Given the description of an element on the screen output the (x, y) to click on. 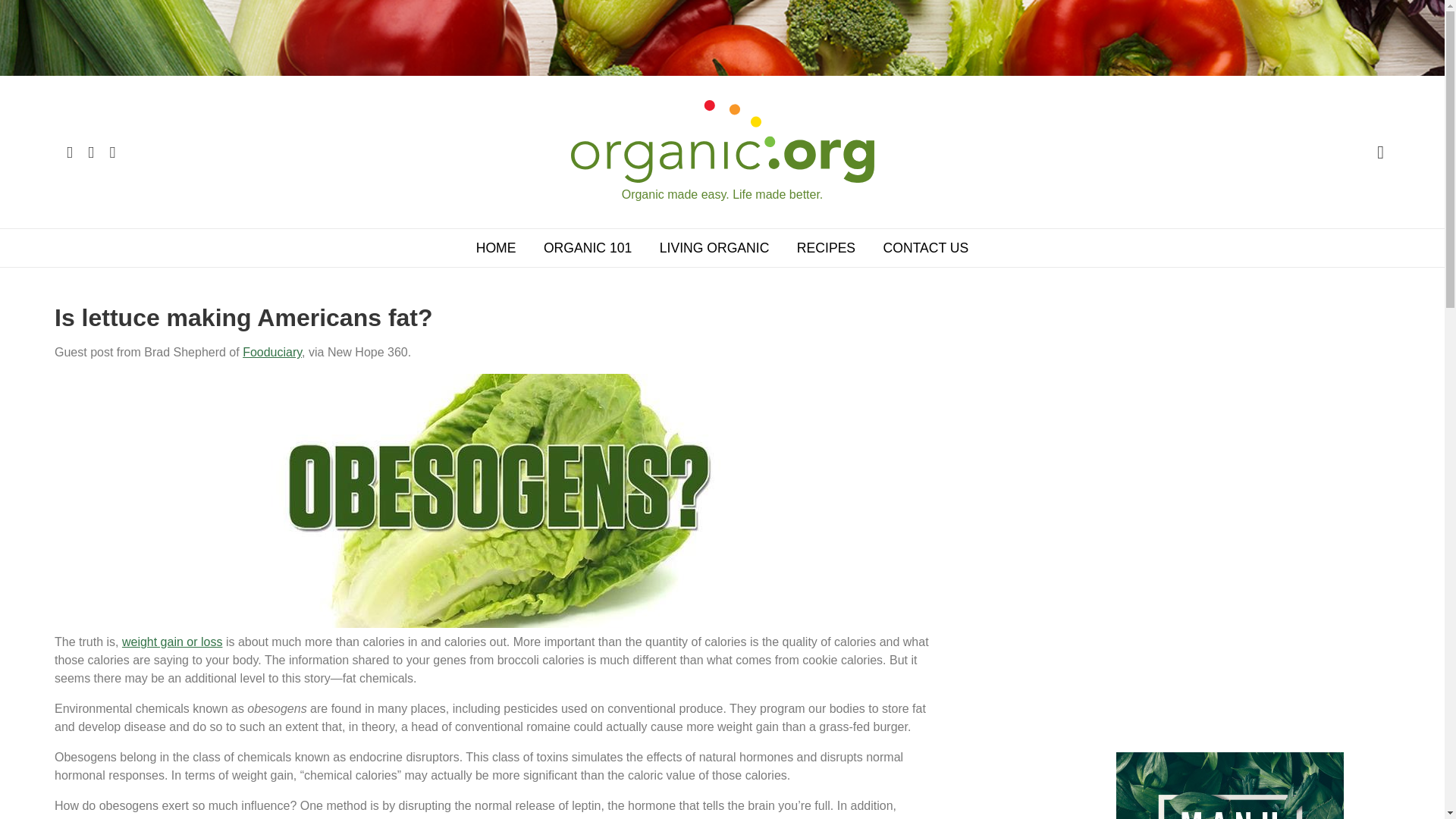
ORGANIC 101 (587, 247)
Fooduciary (272, 351)
RECIPES (825, 247)
CONTACT US (925, 247)
HOME (496, 247)
Advertisement (1230, 622)
weight gain or loss (172, 641)
LIVING ORGANIC (714, 247)
